Given the description of an element on the screen output the (x, y) to click on. 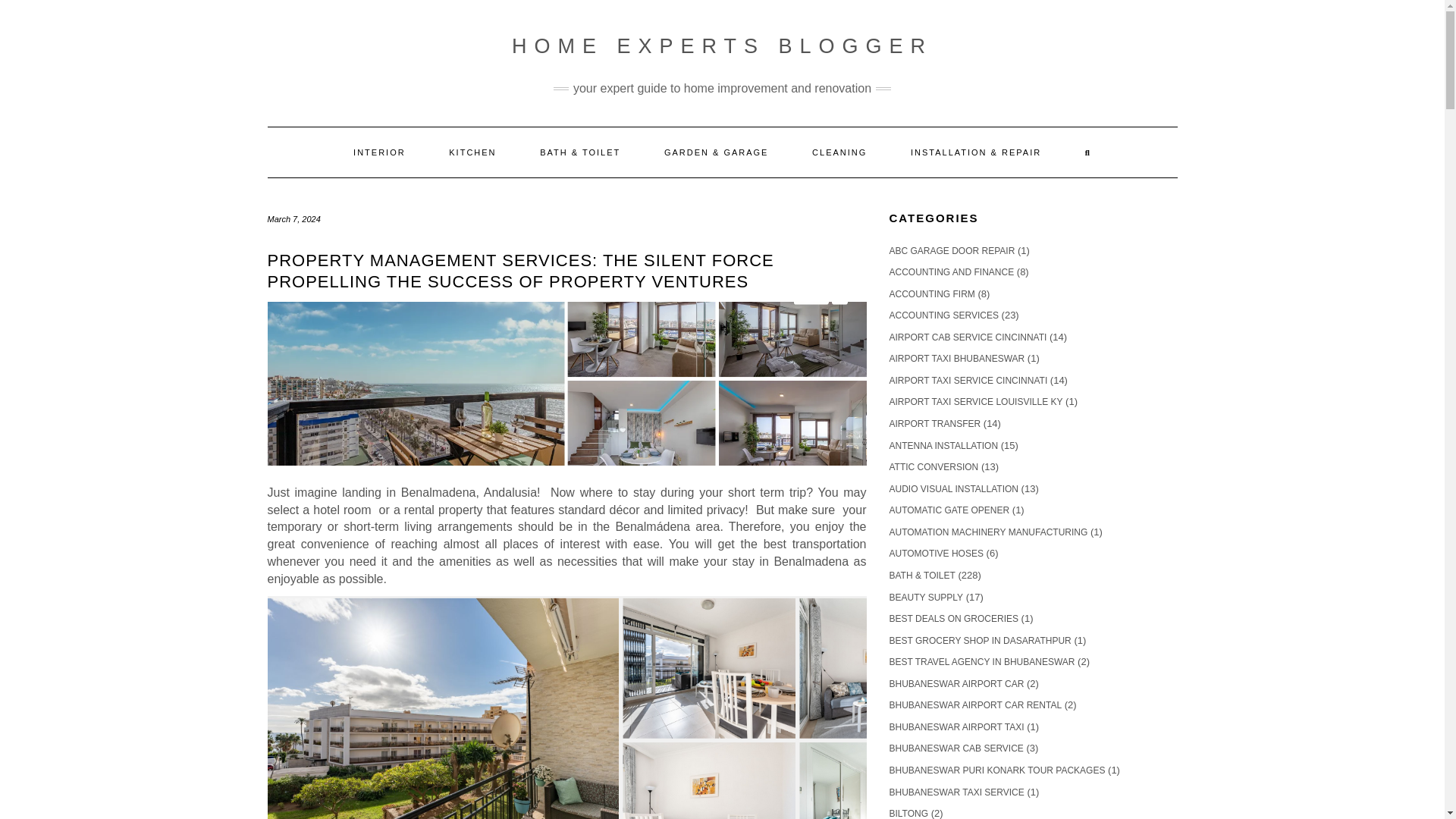
AUTOMOTIVE HOSES (935, 552)
AUTOMATIC GATE OPENER (948, 510)
ACCOUNTING FIRM (931, 294)
INTERIOR (379, 152)
ATTIC CONVERSION (933, 466)
BEST DEALS ON GROCERIES (952, 618)
KITCHEN (472, 152)
AIRPORT CAB SERVICE CINCINNATI (967, 337)
AIRPORT TAXI SERVICE CINCINNATI (967, 380)
ACCOUNTING AND FINANCE (950, 271)
AIRPORT TRANSFER (933, 423)
AUDIO VISUAL INSTALLATION (952, 489)
ABC GARAGE DOOR REPAIR (951, 250)
ACCOUNTING SERVICES (942, 315)
AUTOMATION MACHINERY MANUFACTURING (987, 532)
